Given the description of an element on the screen output the (x, y) to click on. 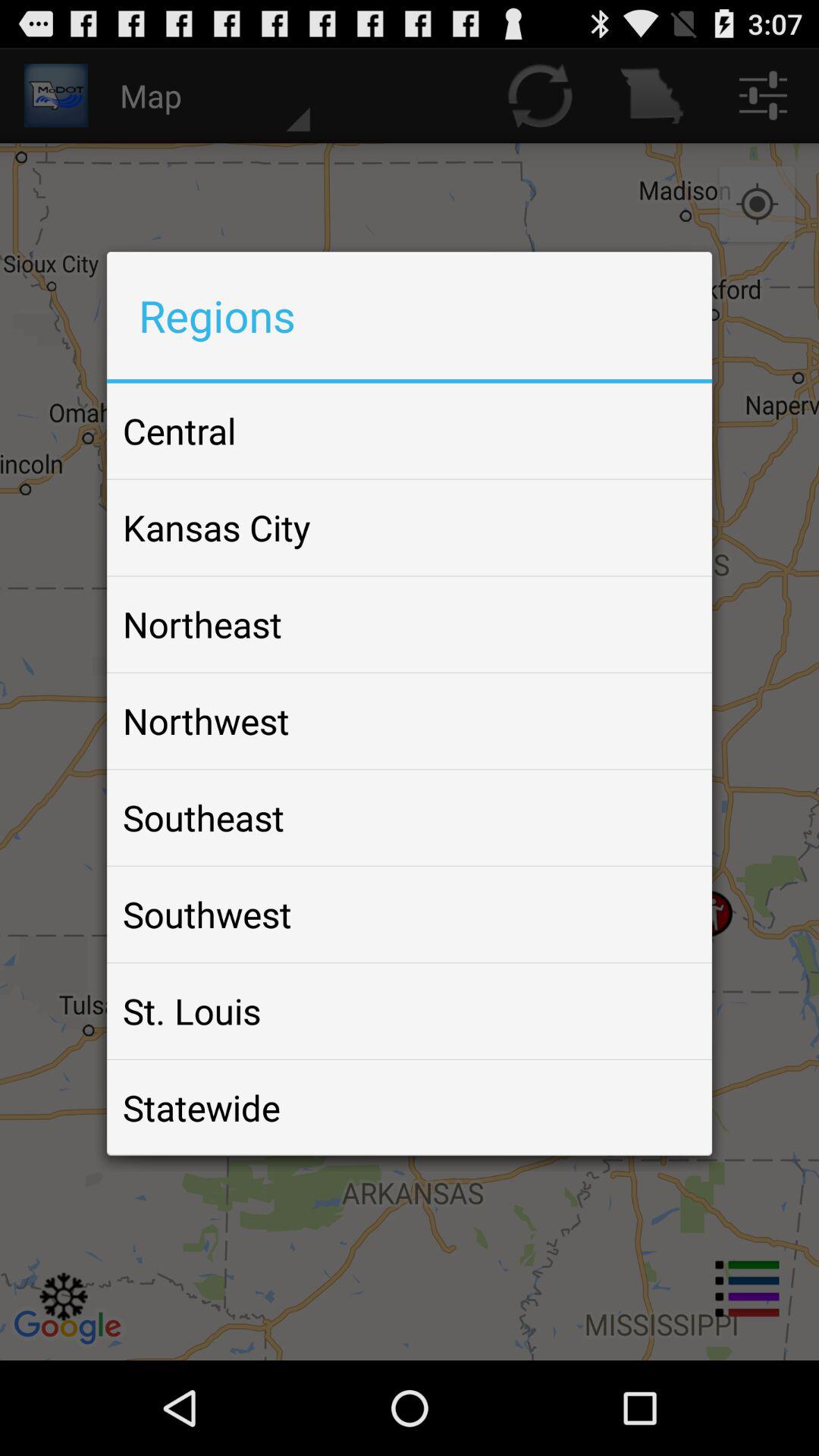
swipe until the southeast item (203, 817)
